Given the description of an element on the screen output the (x, y) to click on. 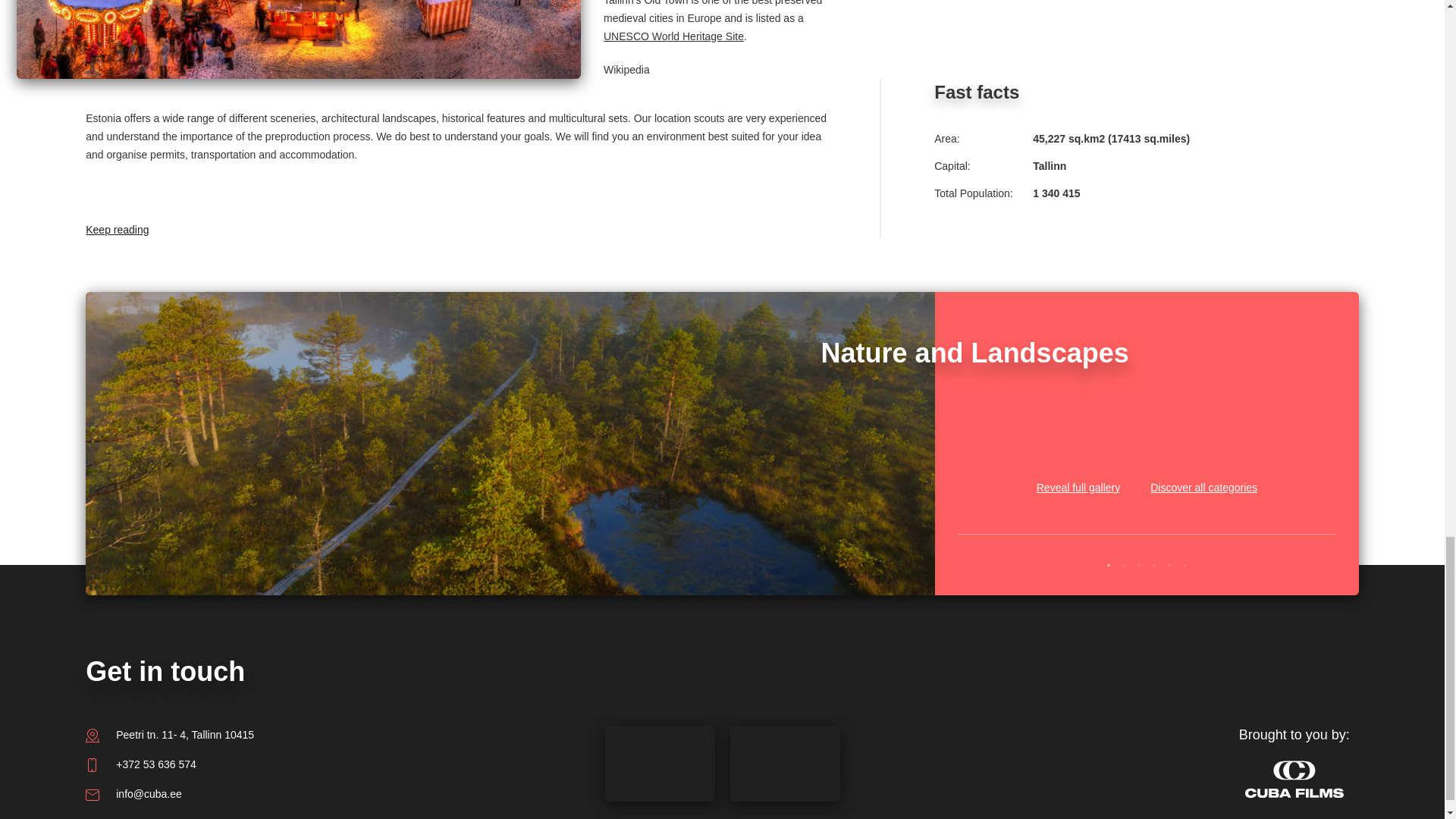
Reveal full gallery (1078, 468)
Keep reading (176, 201)
UNESCO World Heritage Site (674, 36)
Discover all categories (1203, 468)
